Given the description of an element on the screen output the (x, y) to click on. 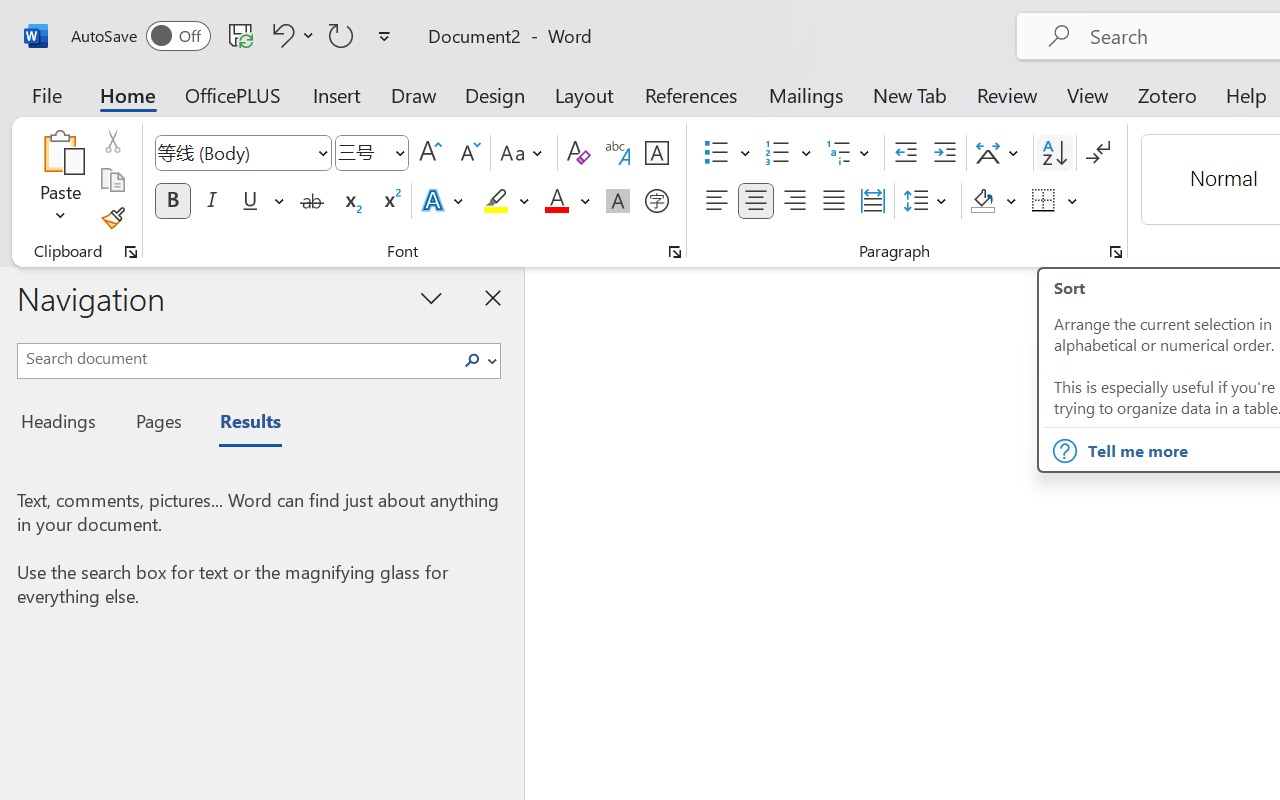
Shading RGB(0, 0, 0) (982, 201)
Search (471, 360)
Repeat Doc Close (341, 35)
Headings (64, 424)
Layout (584, 94)
Bold (172, 201)
Search document (236, 358)
Font Size (372, 153)
Asian Layout (1000, 153)
Task Pane Options (431, 297)
